Given the description of an element on the screen output the (x, y) to click on. 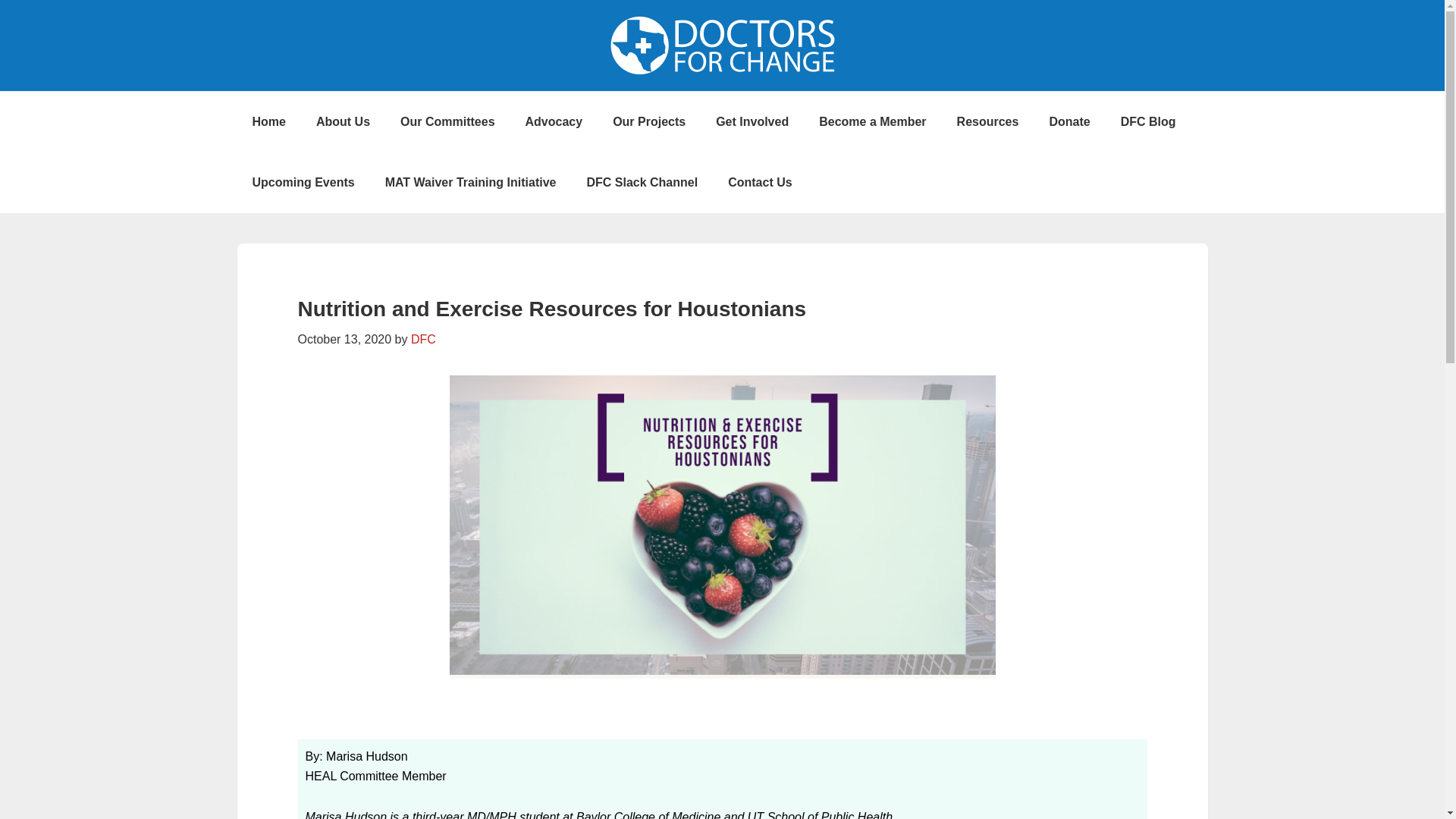
About Us (343, 121)
Donate (1069, 121)
Contact Us (759, 182)
Upcoming Events (302, 182)
Home (267, 121)
Our Projects (648, 121)
Advocacy (554, 121)
Our Committees (447, 121)
DFC Blog (1148, 121)
